Given the description of an element on the screen output the (x, y) to click on. 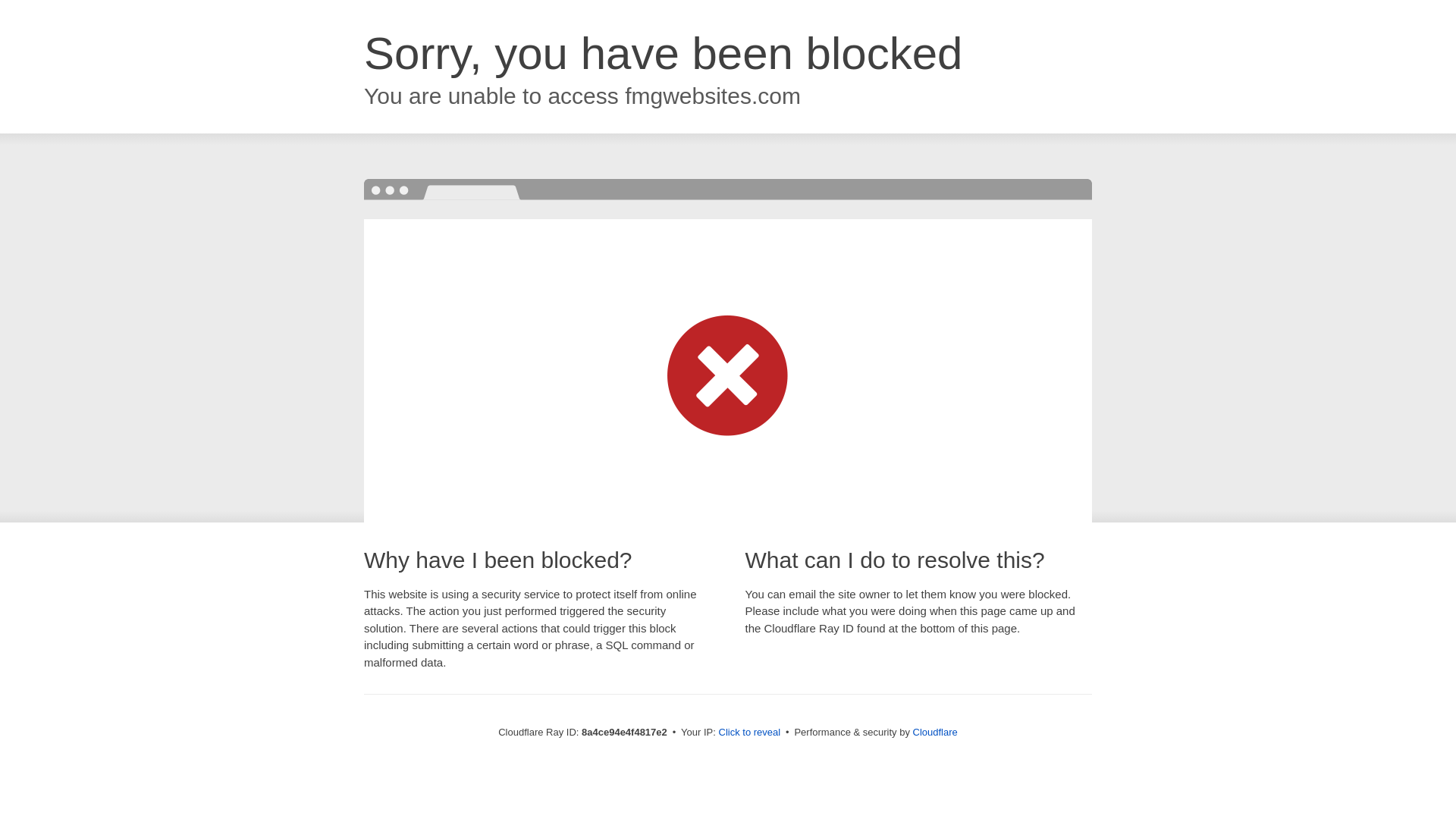
Cloudflare (935, 731)
Click to reveal (749, 732)
